Given the description of an element on the screen output the (x, y) to click on. 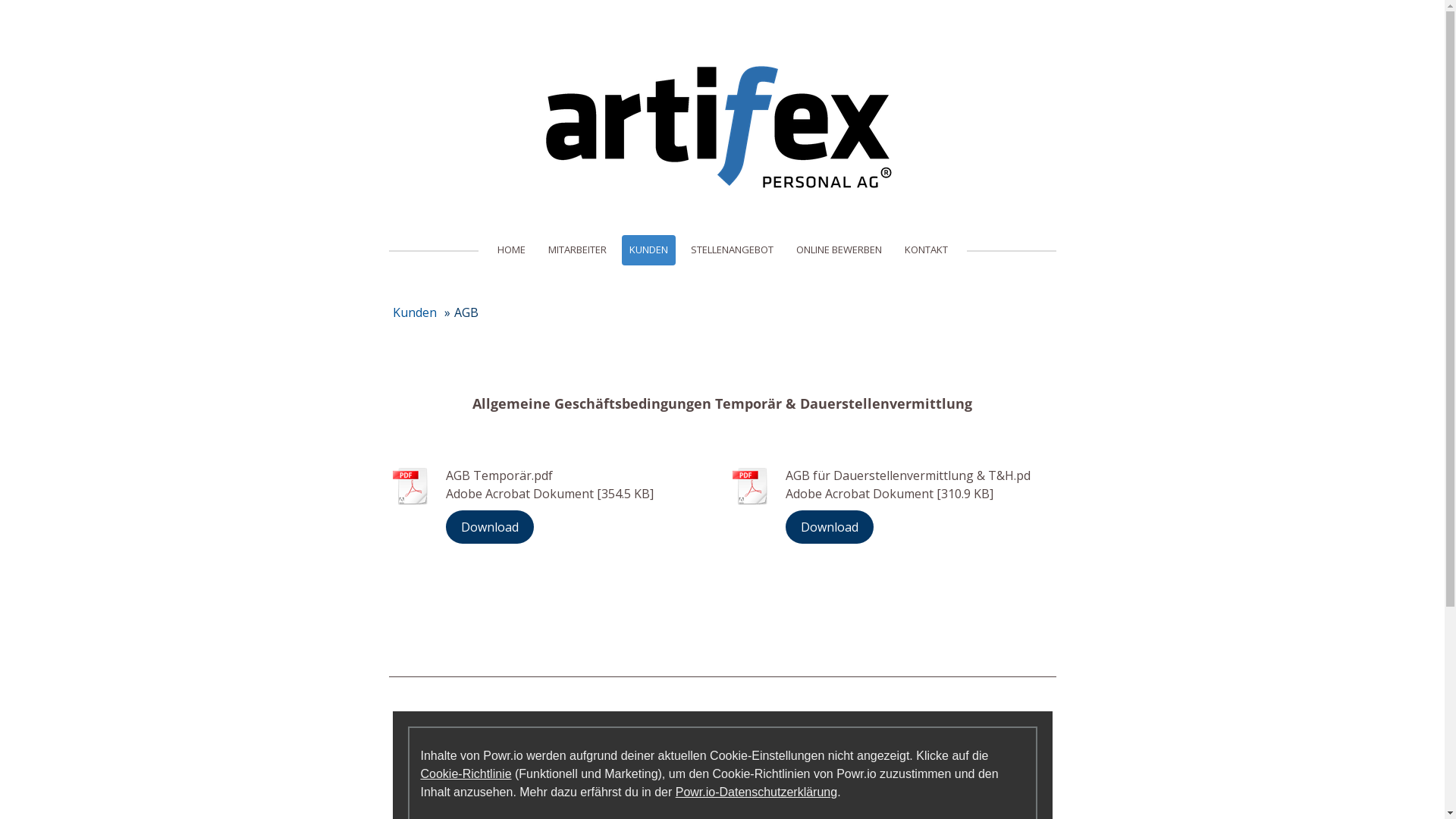
MITARBEITER Element type: text (576, 250)
Kunden Element type: text (412, 311)
Download Element type: text (489, 525)
HOME Element type: text (511, 250)
STELLENANGEBOT Element type: text (731, 250)
Download Element type: text (829, 525)
Cookie-Richtlinie Element type: text (465, 773)
AGB Element type: text (461, 311)
KONTAKT Element type: text (925, 250)
ONLINE BEWERBEN Element type: text (838, 250)
KUNDEN Element type: text (648, 250)
